Given the description of an element on the screen output the (x, y) to click on. 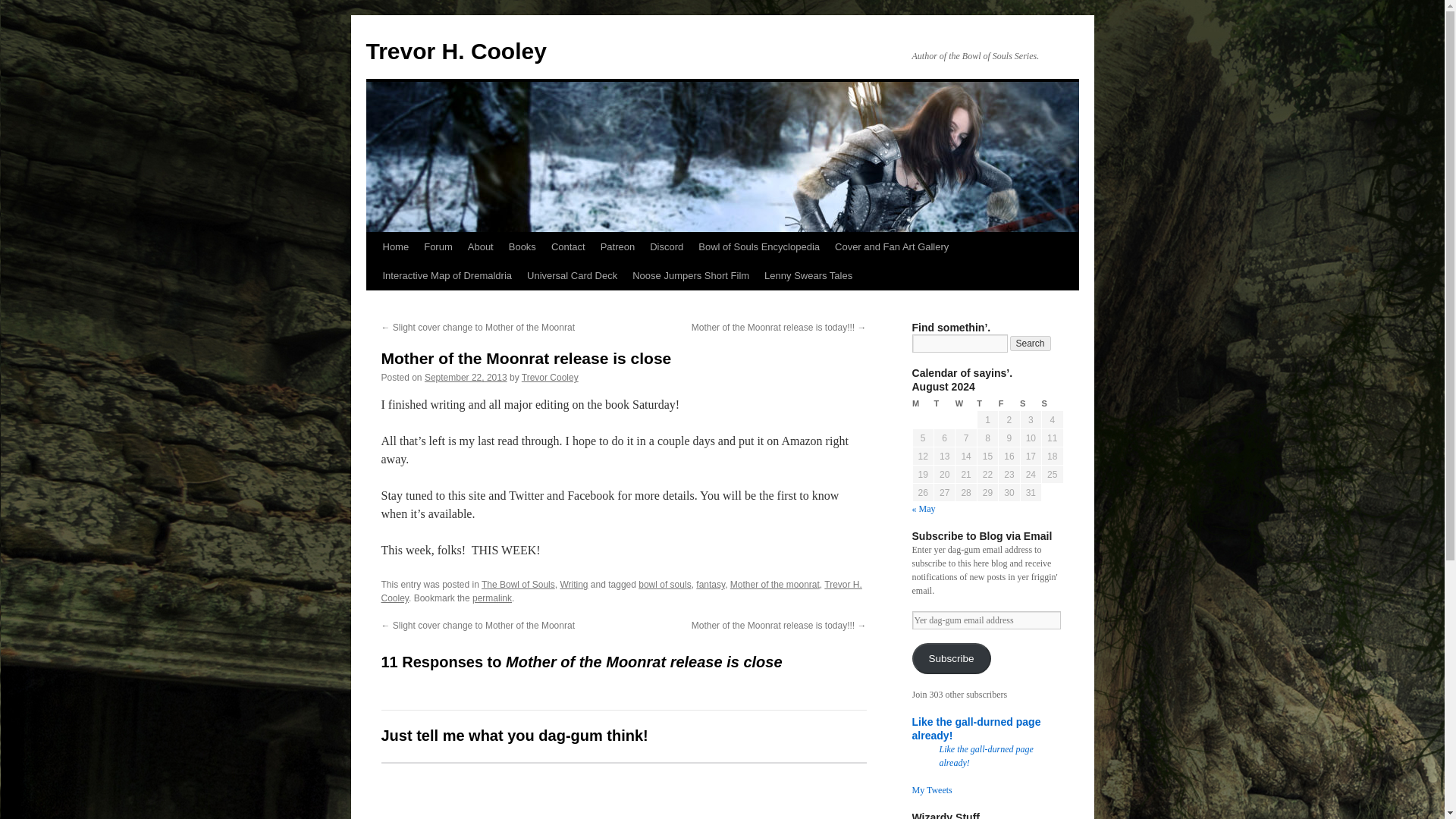
Home (395, 246)
12:20 PM (465, 377)
Books (521, 246)
Cover and Fan Art Gallery (891, 246)
Search (1030, 343)
Noose Jumpers Short Film (690, 275)
Universal Card Deck (571, 275)
Forum (438, 246)
Interactive Map of Dremaldria (446, 275)
Friday (1009, 403)
